Given the description of an element on the screen output the (x, y) to click on. 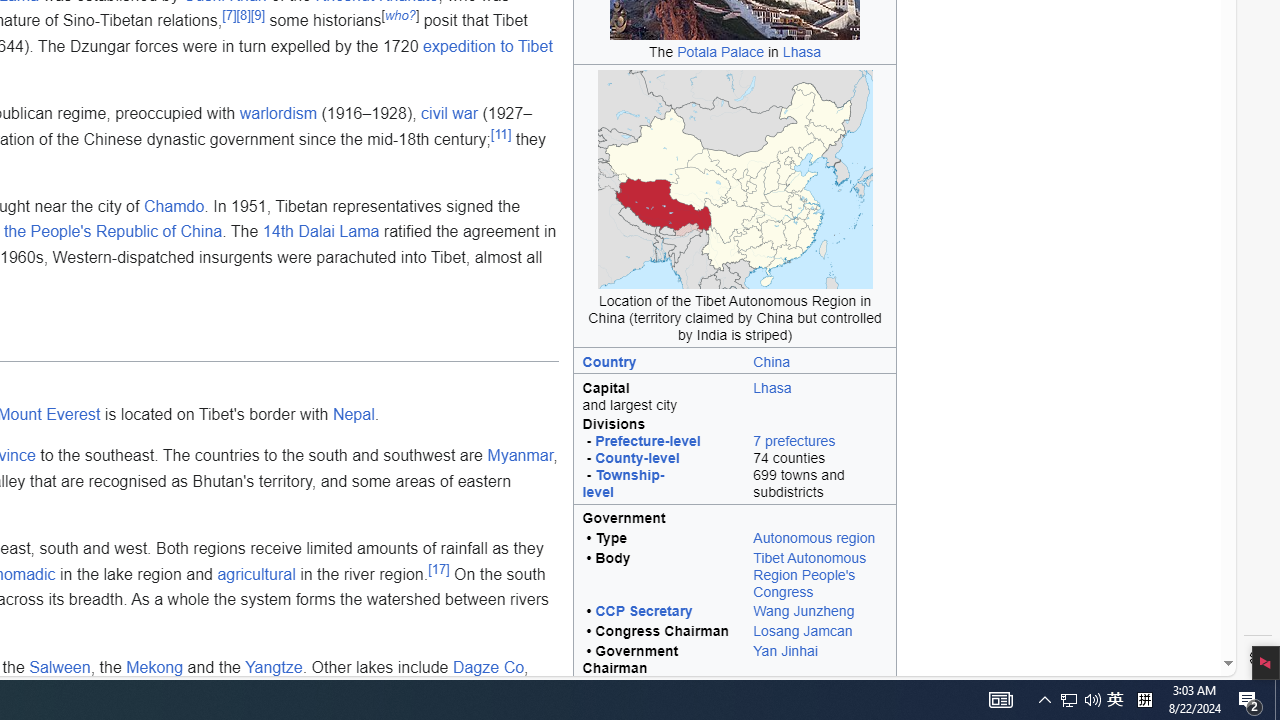
Nepal (353, 413)
[11] (501, 133)
Potala Palace (721, 51)
Capital and largest city (658, 394)
Autonomous region (820, 539)
Government (735, 517)
[7] (228, 15)
Lhasa (820, 394)
Class: mergedtoprow (735, 517)
[17] (438, 568)
Class: mergedrow (735, 660)
Autonomous region (813, 538)
CCP Secretary (643, 611)
